Given the description of an element on the screen output the (x, y) to click on. 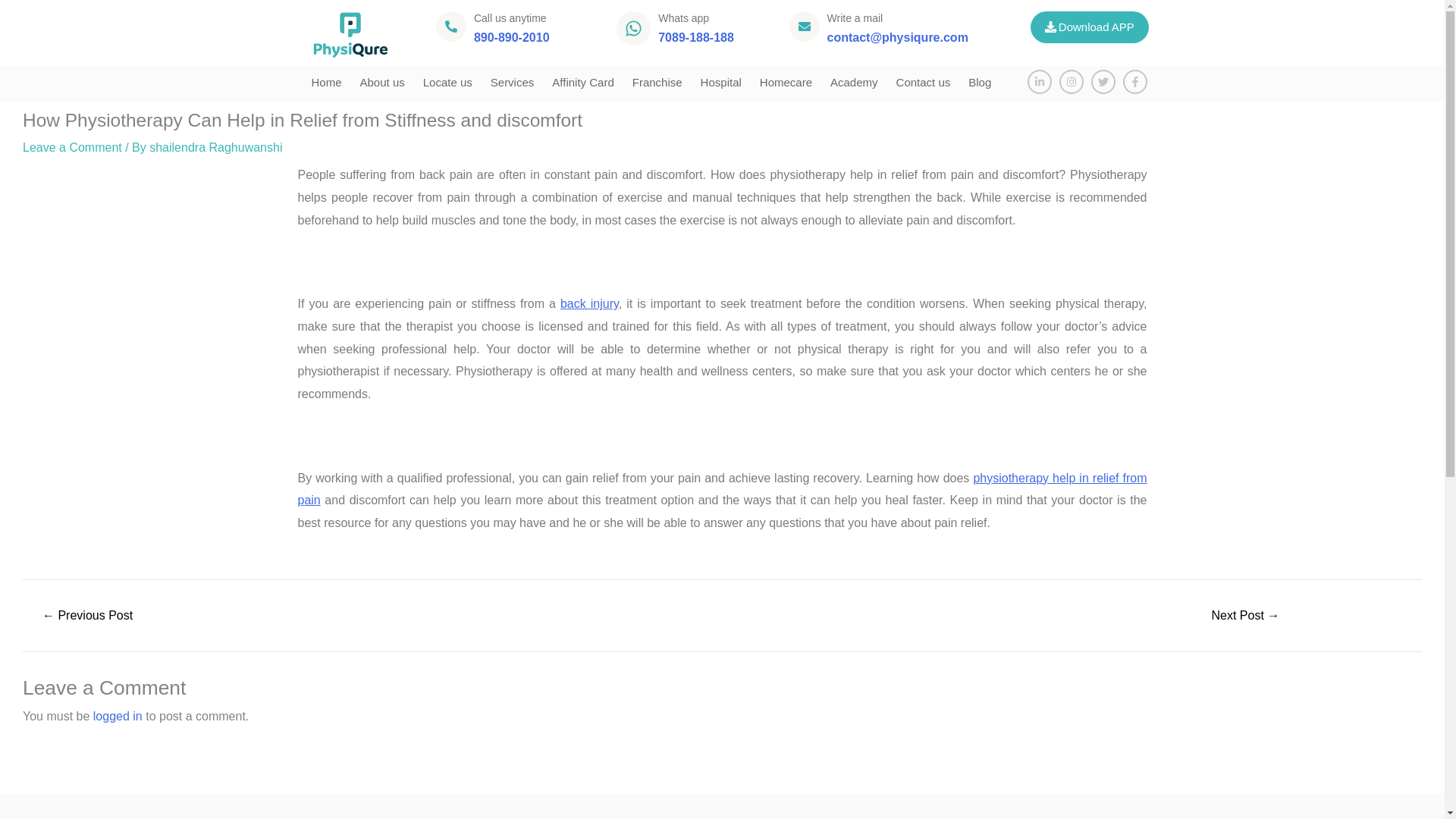
Download APP (1089, 27)
whats app no. (695, 37)
Hospital (721, 82)
Whats app (683, 18)
Blog (979, 82)
Home (325, 82)
890-890-2010 (512, 37)
Locate us (447, 82)
Services (512, 82)
email id (897, 37)
